Given the description of an element on the screen output the (x, y) to click on. 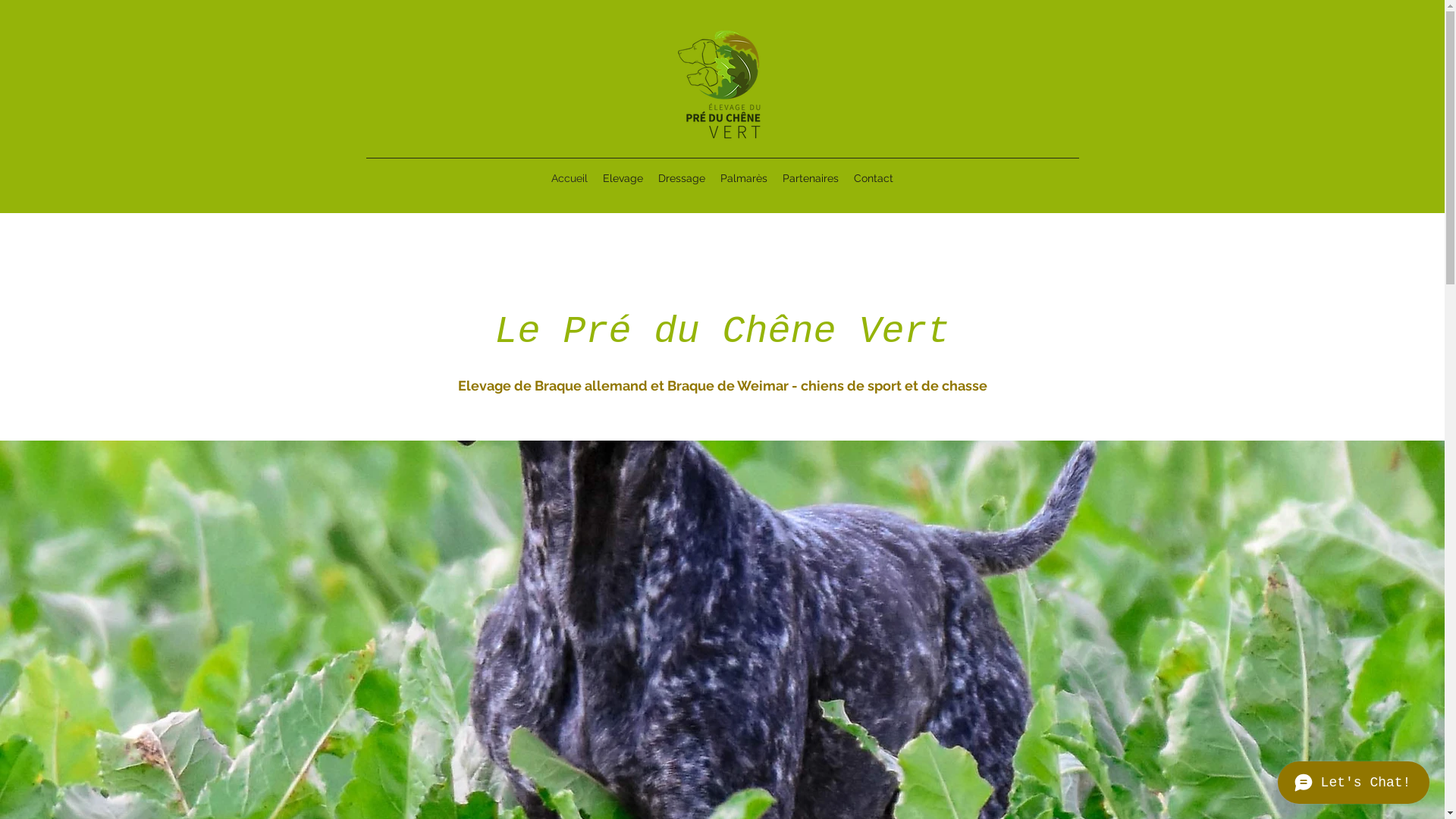
Partenaires Element type: text (810, 177)
Elevage Element type: text (622, 177)
Dressage Element type: text (681, 177)
Accueil Element type: text (569, 177)
Contact Element type: text (873, 177)
